Given the description of an element on the screen output the (x, y) to click on. 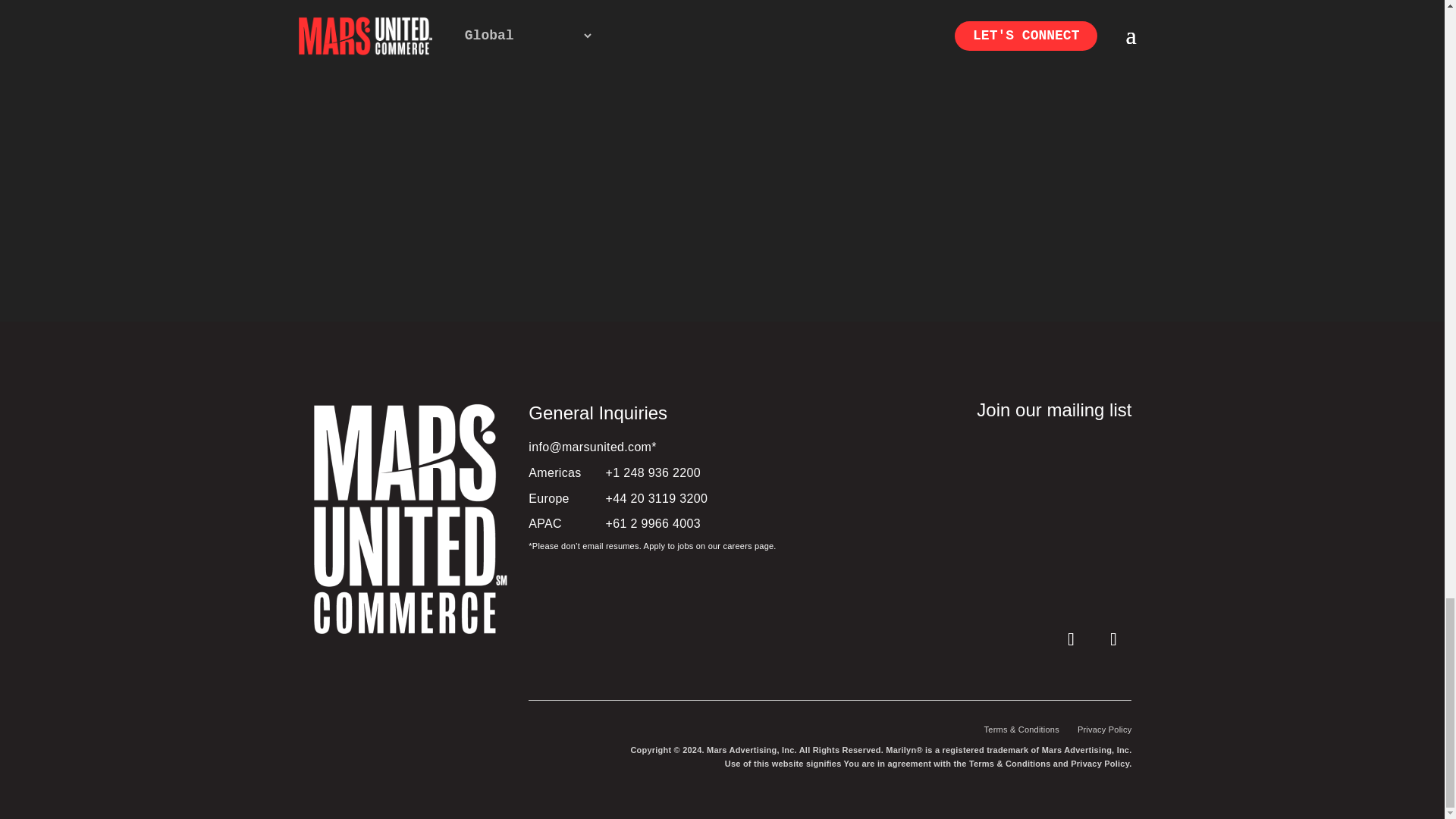
Follow on LinkedIn (1070, 638)
Form 1 (992, 517)
Follow on Instagram (1112, 638)
